Given the description of an element on the screen output the (x, y) to click on. 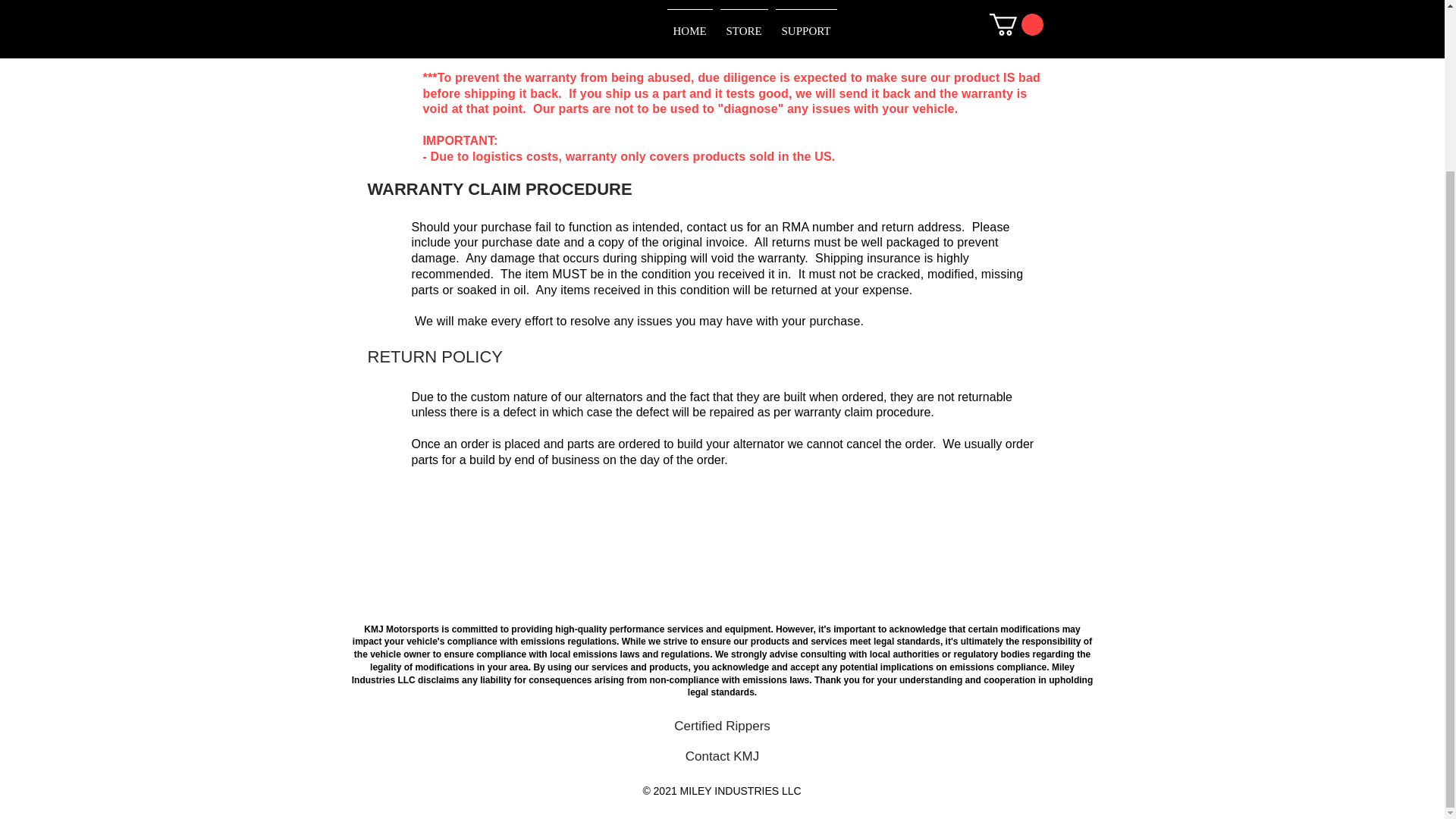
Certified Rippers (722, 726)
Contact KMJ (722, 757)
